Given the description of an element on the screen output the (x, y) to click on. 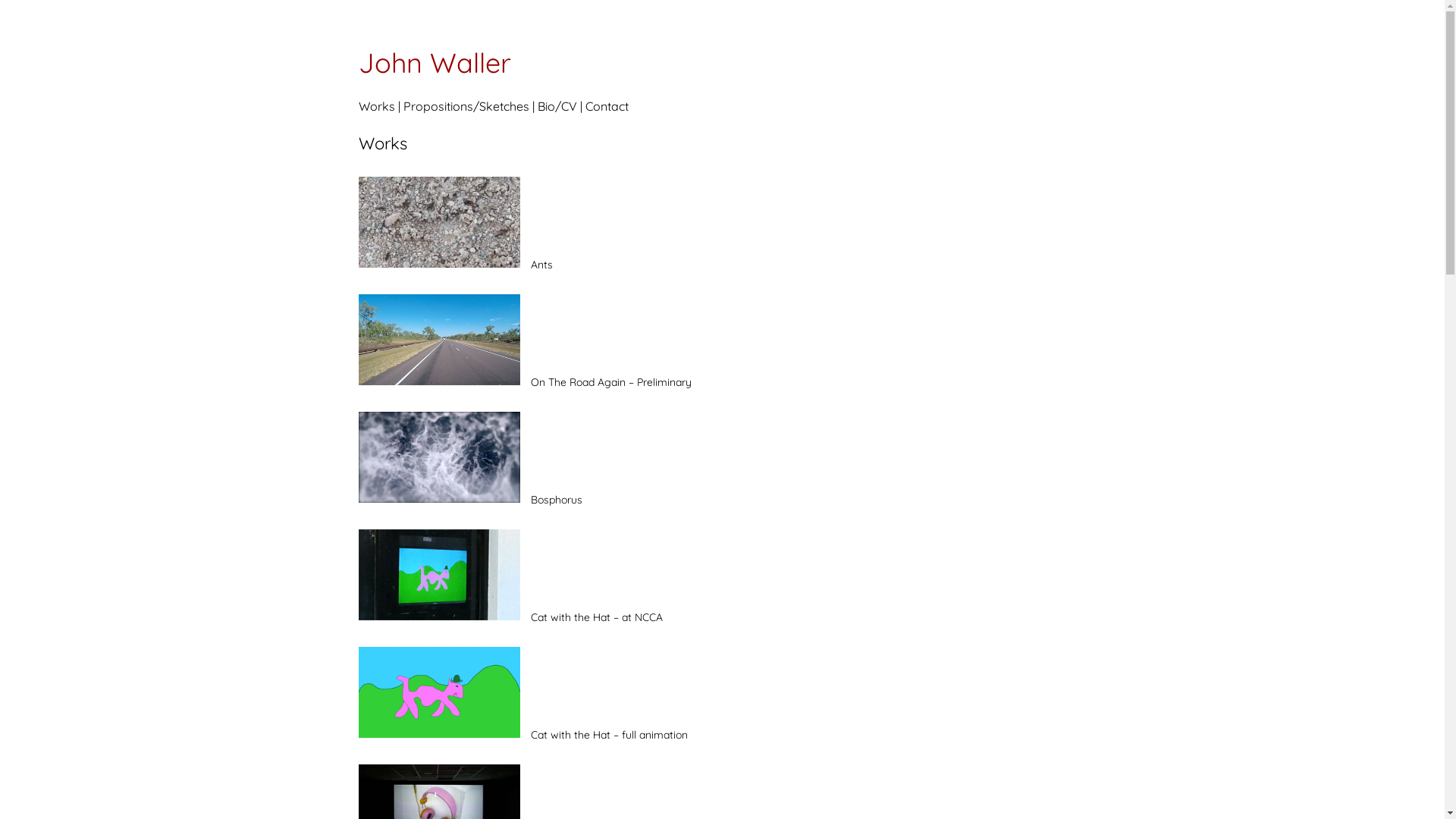
Bio/CV Element type: text (556, 105)
Ants Element type: text (454, 264)
Works Element type: text (375, 105)
Contact Element type: text (606, 105)
Propositions/Sketches Element type: text (466, 105)
Bosphorus Element type: text (469, 499)
